Given the description of an element on the screen output the (x, y) to click on. 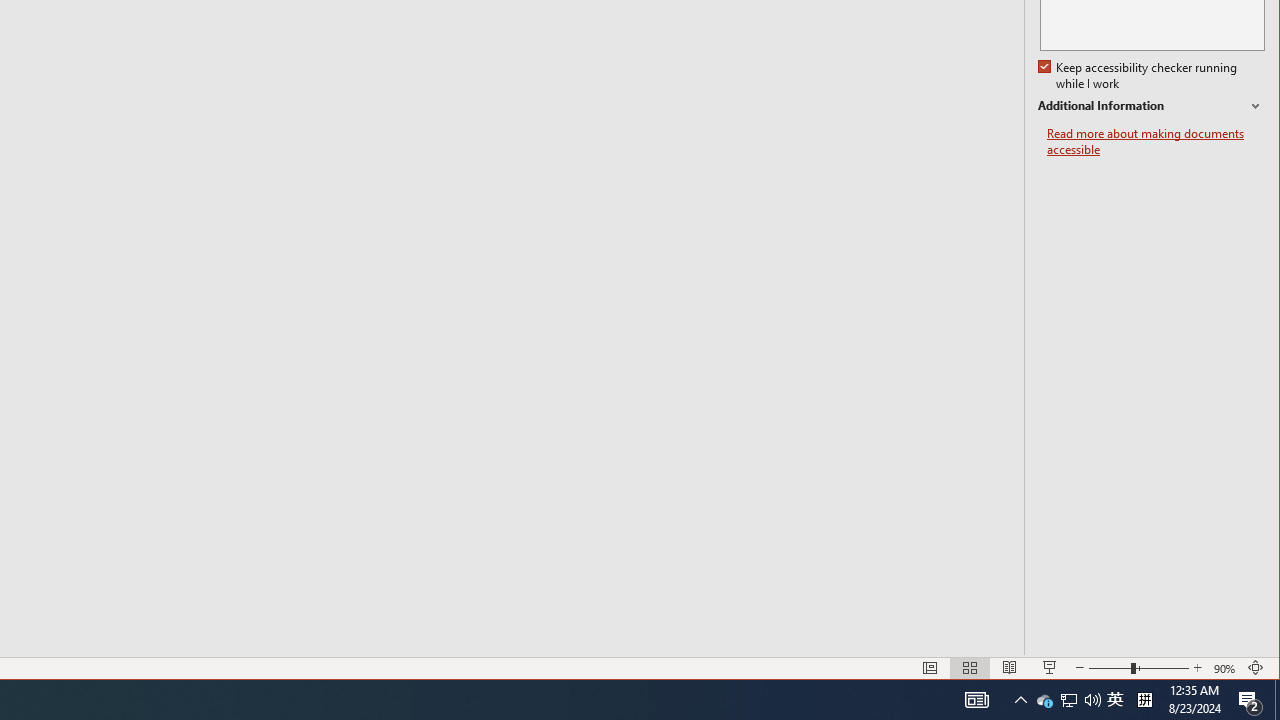
Zoom 90% (1225, 668)
Read more about making documents accessible (1155, 142)
